Given the description of an element on the screen output the (x, y) to click on. 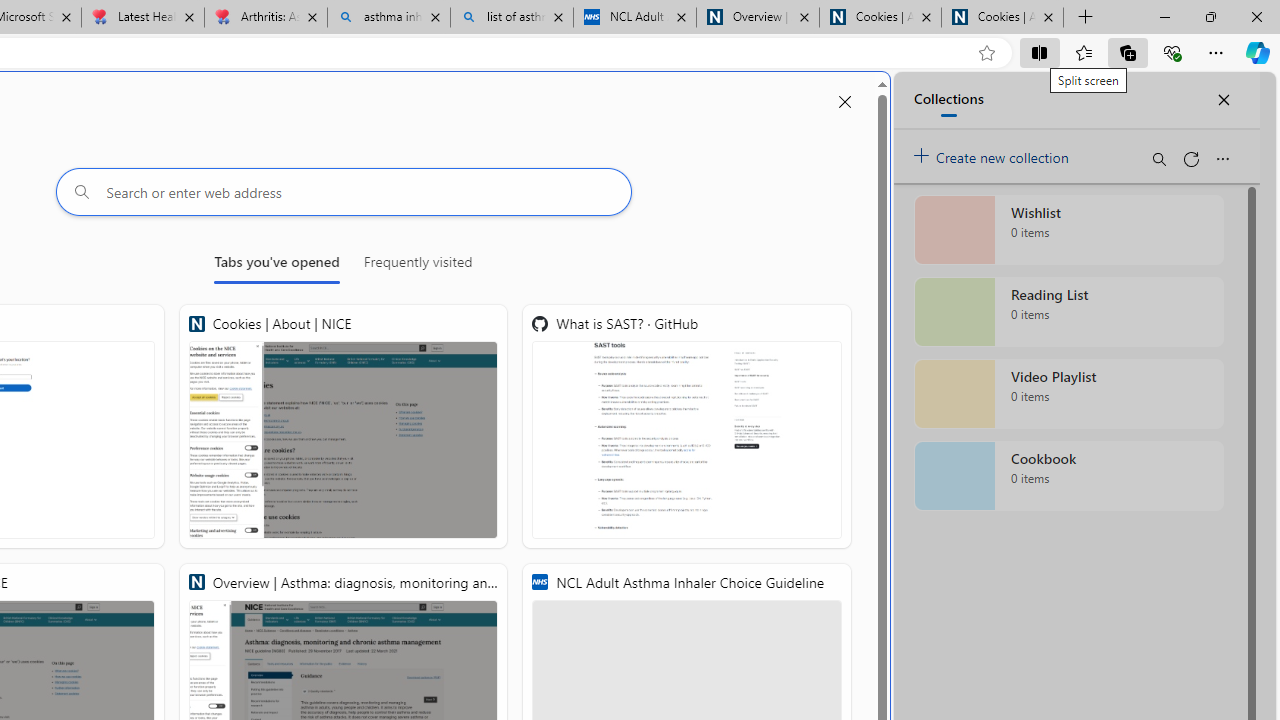
Close split screen (844, 102)
Cookies | About | NICE (343, 426)
Tabs you've opened (276, 265)
Cookies | About | NICE (1002, 17)
